Given the description of an element on the screen output the (x, y) to click on. 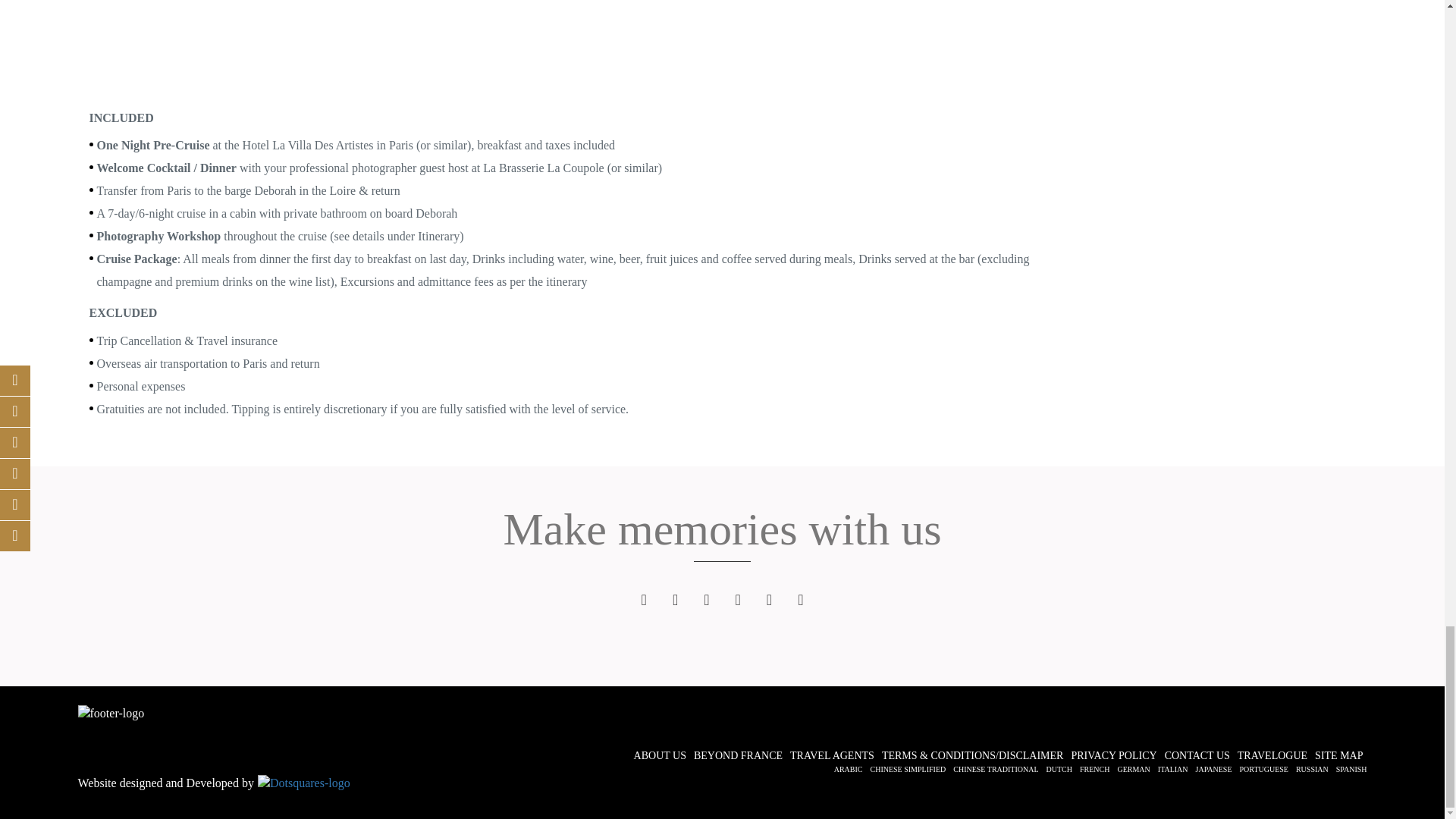
Contact Us (1196, 755)
Russian (1311, 768)
German (1133, 768)
Arabic (848, 768)
Dutch (1058, 768)
Portuguese (1264, 768)
Spanish (1351, 768)
Italian (1172, 768)
Site Map (1339, 755)
Beyond France (738, 755)
